Given the description of an element on the screen output the (x, y) to click on. 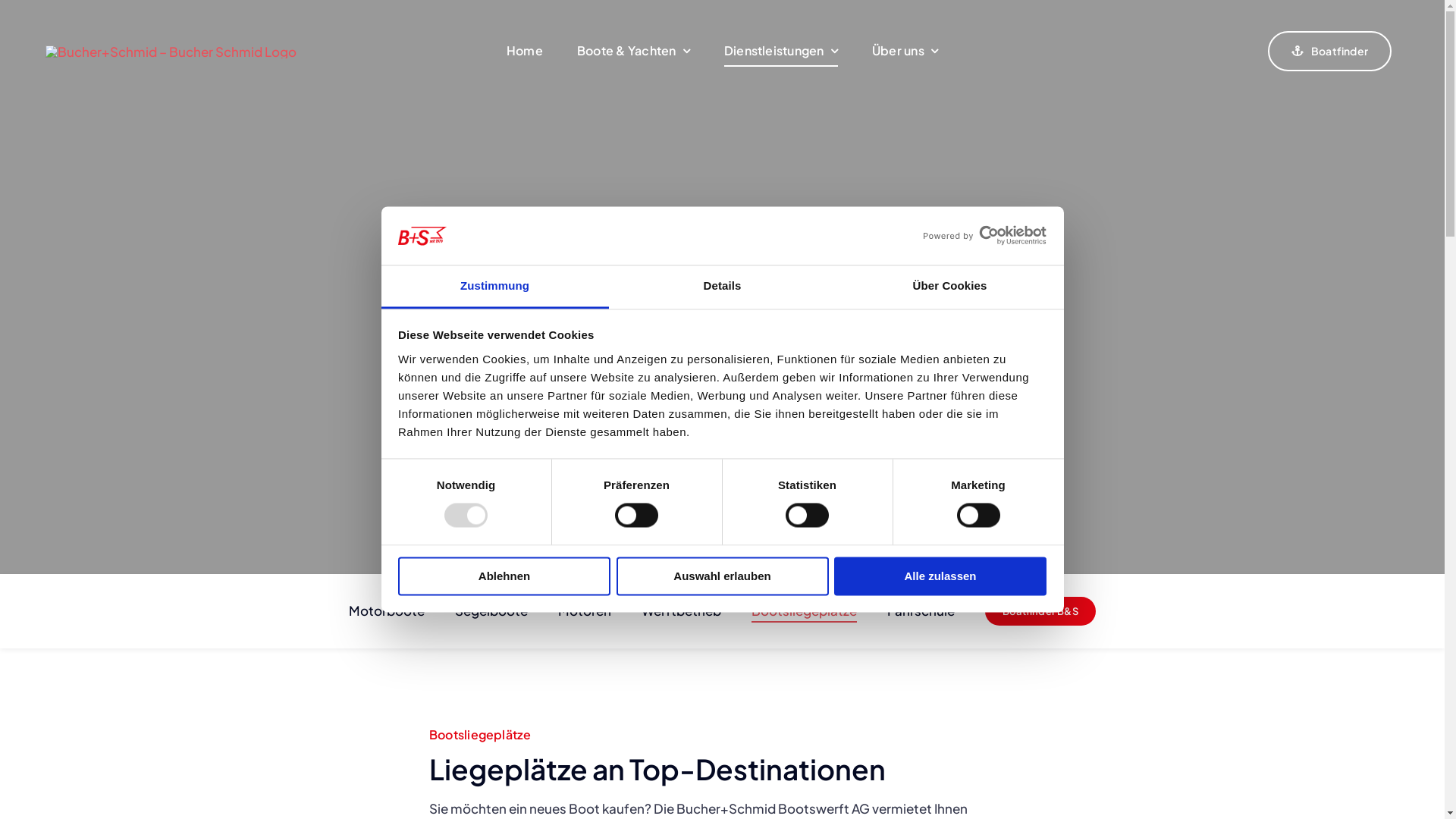
Werftbetrieb Element type: text (681, 611)
Alle zulassen Element type: text (940, 575)
Motorboote Element type: text (386, 611)
Motoren Element type: text (584, 611)
Ablehnen Element type: text (504, 575)
Boatfinder Element type: text (1329, 51)
Auswahl erlauben Element type: text (721, 575)
Segelboote Element type: text (491, 611)
Boatfinder B&S Element type: text (1040, 610)
Fahrschule Element type: text (920, 611)
Zustimmung Element type: text (494, 286)
Details Element type: text (721, 286)
